Given the description of an element on the screen output the (x, y) to click on. 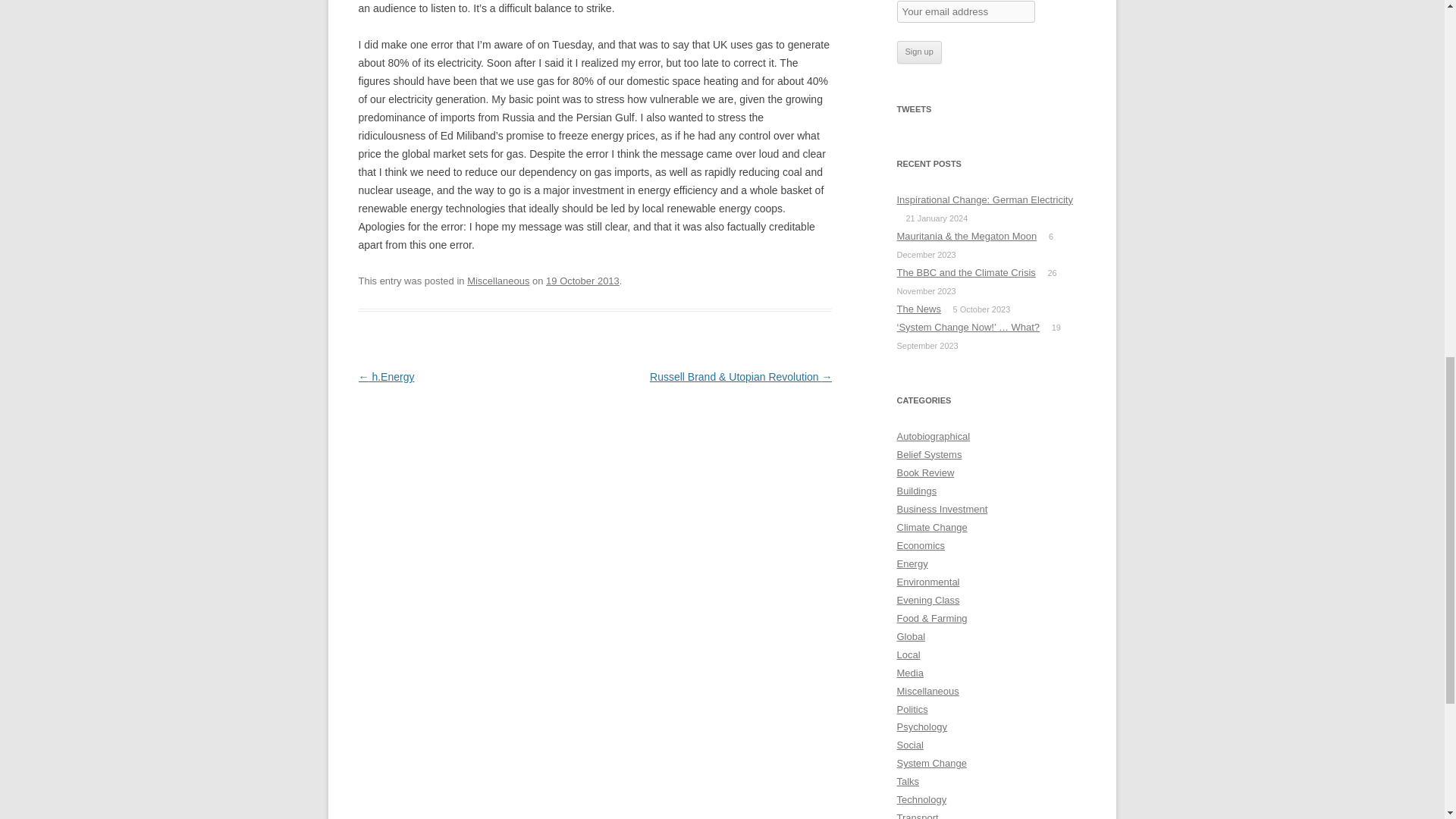
Environmental (927, 582)
19 October 2013 (583, 280)
The News (918, 308)
Inspirational Change: German Electricity (983, 199)
Buildings (916, 490)
Miscellaneous (498, 280)
Sign up (918, 51)
Evening Class (927, 600)
Politics (911, 708)
The BBC and the Climate Crisis (965, 272)
Business Investment (941, 509)
Autobiographical (932, 436)
Climate Change (931, 527)
Energy (911, 563)
Book Review (924, 472)
